Given the description of an element on the screen output the (x, y) to click on. 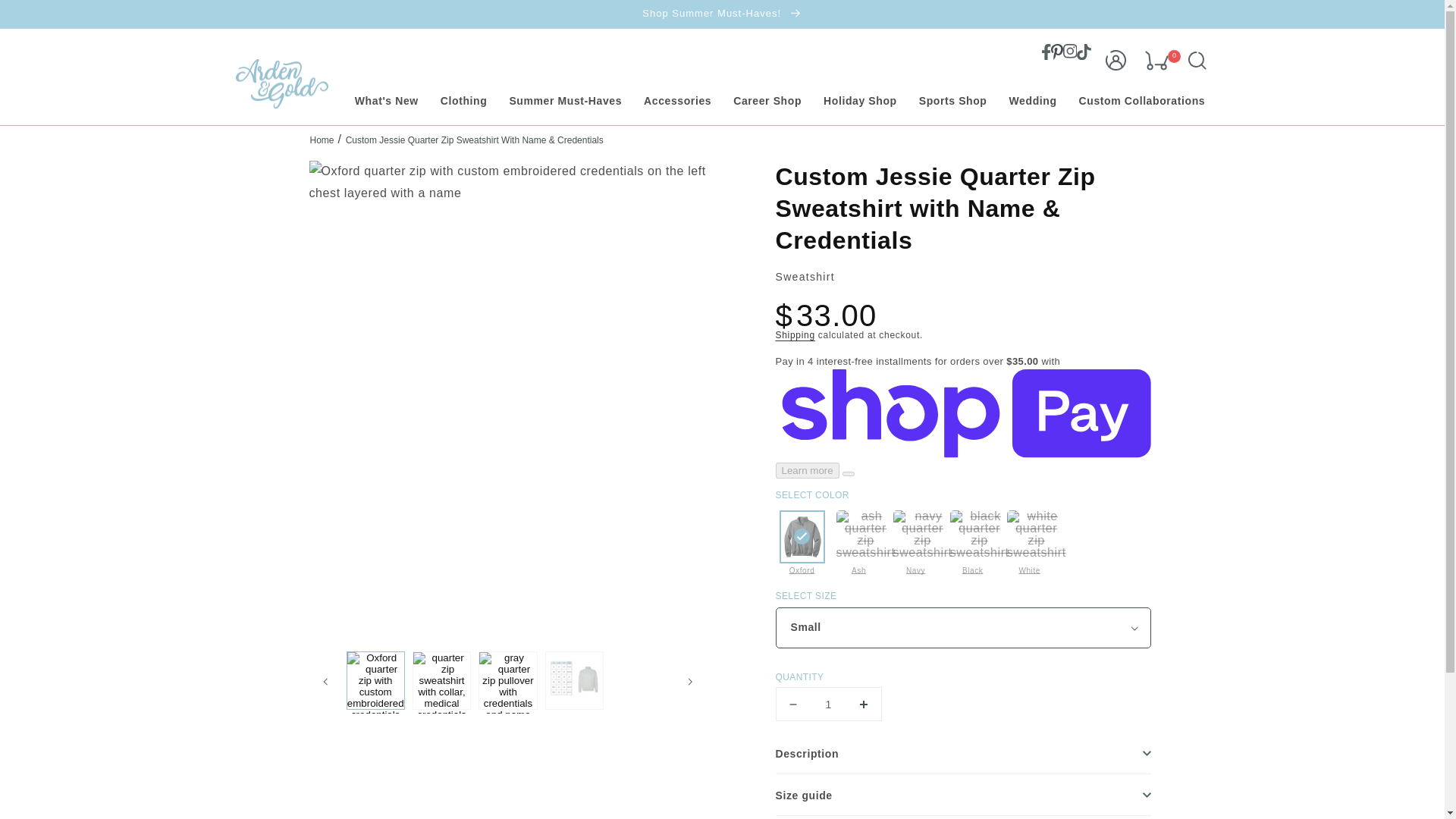
Skip to content (45, 16)
1 (827, 703)
